Given the description of an element on the screen output the (x, y) to click on. 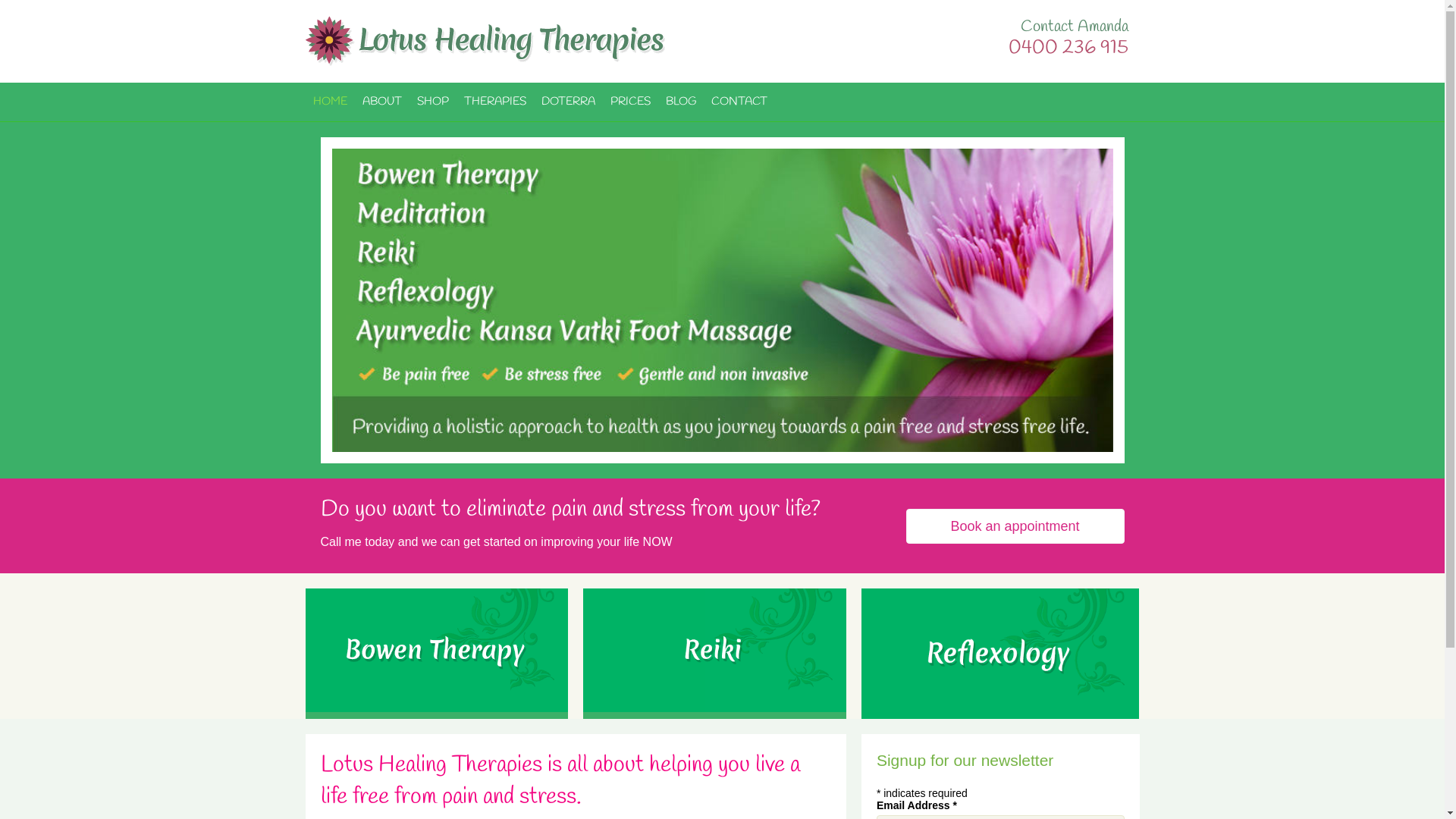
Book an appointment Element type: text (1014, 525)
SHOP Element type: text (432, 101)
HOME Element type: text (329, 101)
CONTACT Element type: text (739, 101)
BLOG Element type: text (680, 101)
ABOUT Element type: text (381, 101)
DOTERRA Element type: text (567, 101)
PRICES Element type: text (629, 101)
THERAPIES Element type: text (494, 101)
